Given the description of an element on the screen output the (x, y) to click on. 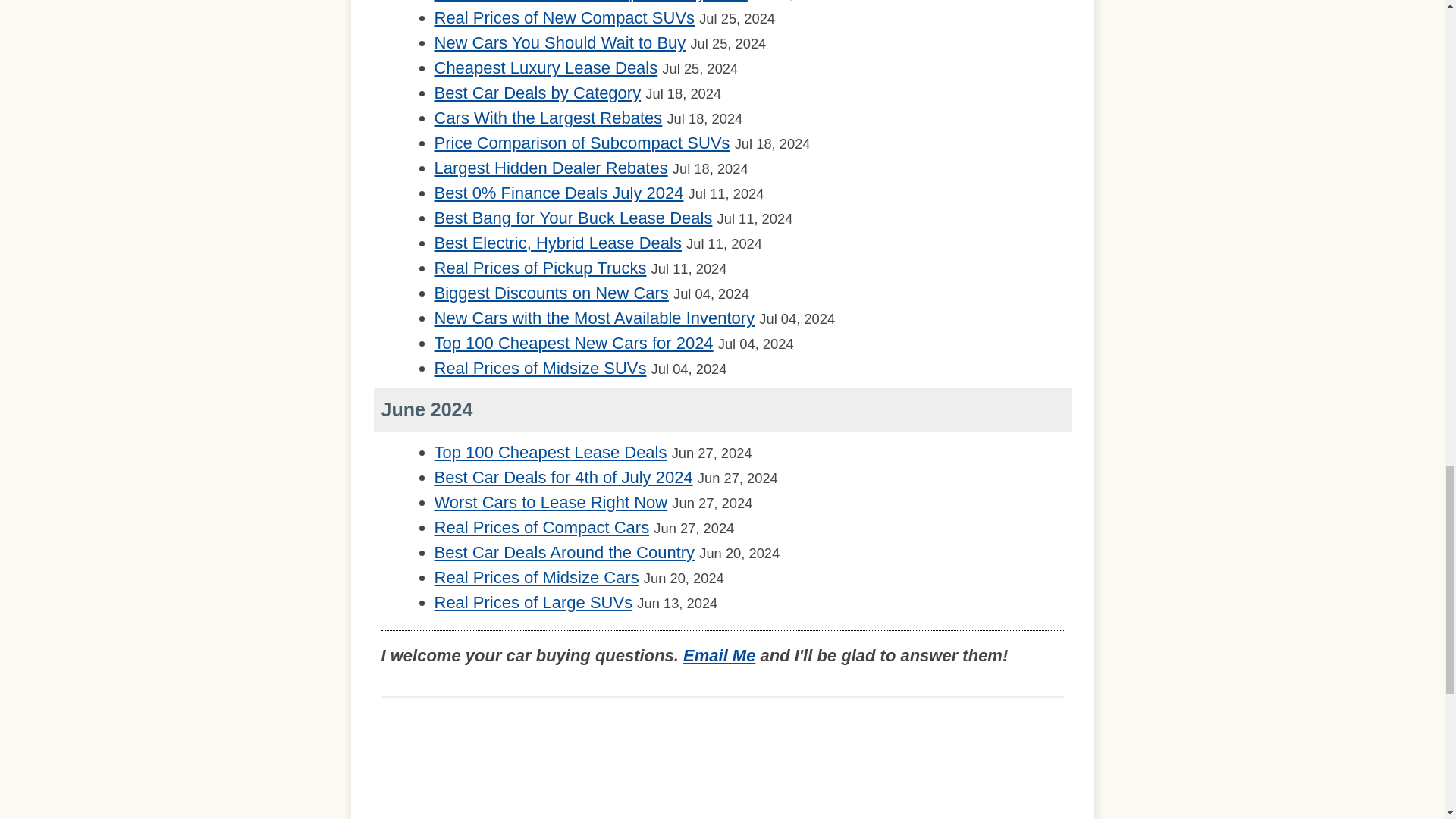
Top 100 Cheapest New Cars for 2024 (573, 342)
Real Prices of Pickup Trucks (539, 267)
New Cars with the Most Available Inventory (593, 317)
Real Prices of New Compact SUVs (563, 17)
Real Prices of Compact Cars (541, 527)
Real Prices of Midsize Cars (536, 577)
Biggest Discounts on New Cars (550, 292)
Email Me (718, 655)
Real Prices of Large SUVs (532, 601)
Price Comparison of Subcompact SUVs (581, 142)
Largest Hidden Dealer Rebates (549, 167)
Best Car Deals for 4th of July 2024 (563, 476)
Cheapest Luxury Lease Deals (545, 67)
New Cars You Should Wait to Buy (559, 42)
